Given the description of an element on the screen output the (x, y) to click on. 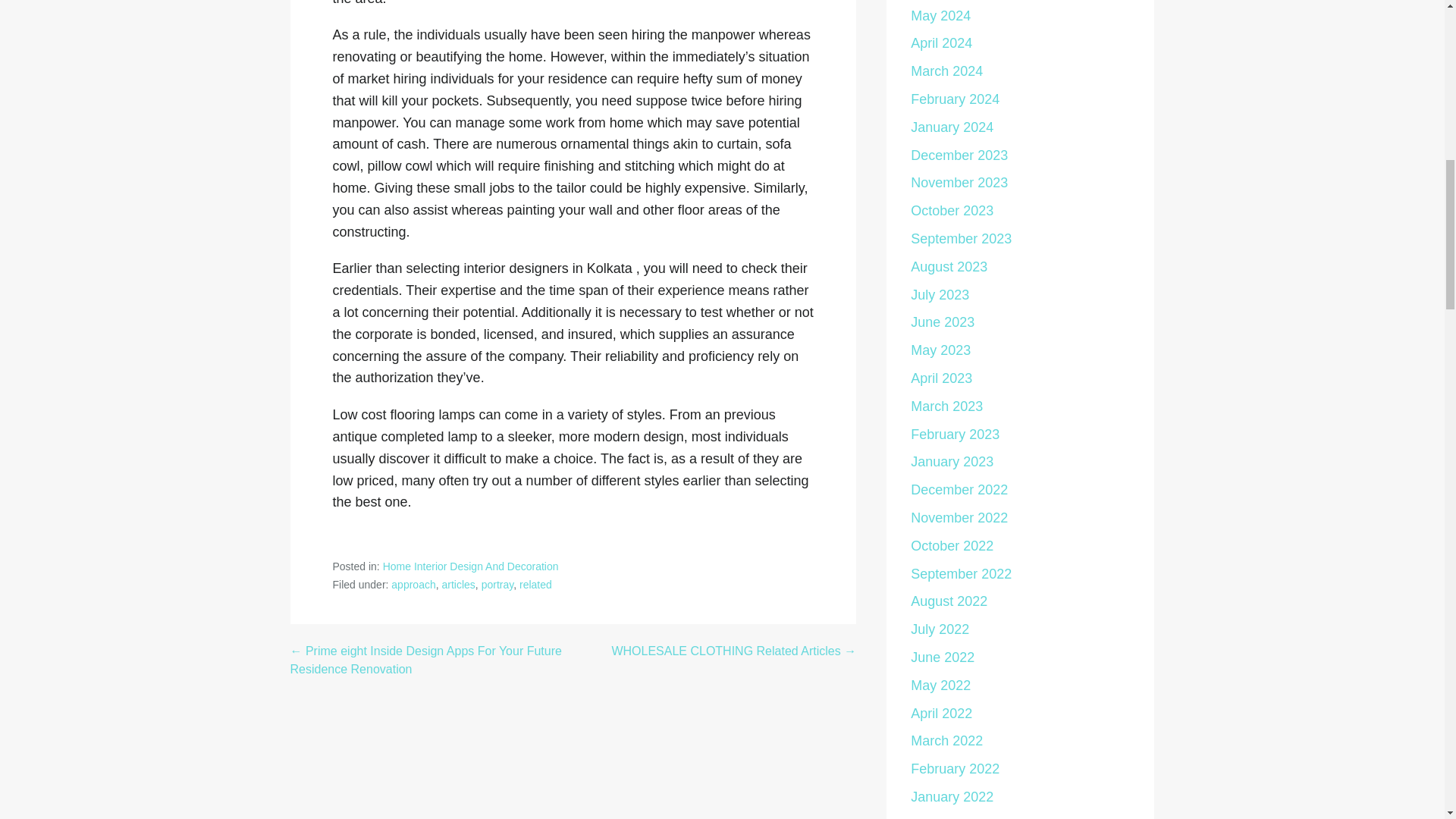
June 2023 (942, 322)
December 2023 (959, 155)
approach (413, 584)
April 2024 (941, 43)
March 2024 (946, 70)
April 2023 (941, 378)
January 2024 (951, 127)
May 2024 (941, 15)
articles (457, 584)
August 2023 (949, 266)
